Given the description of an element on the screen output the (x, y) to click on. 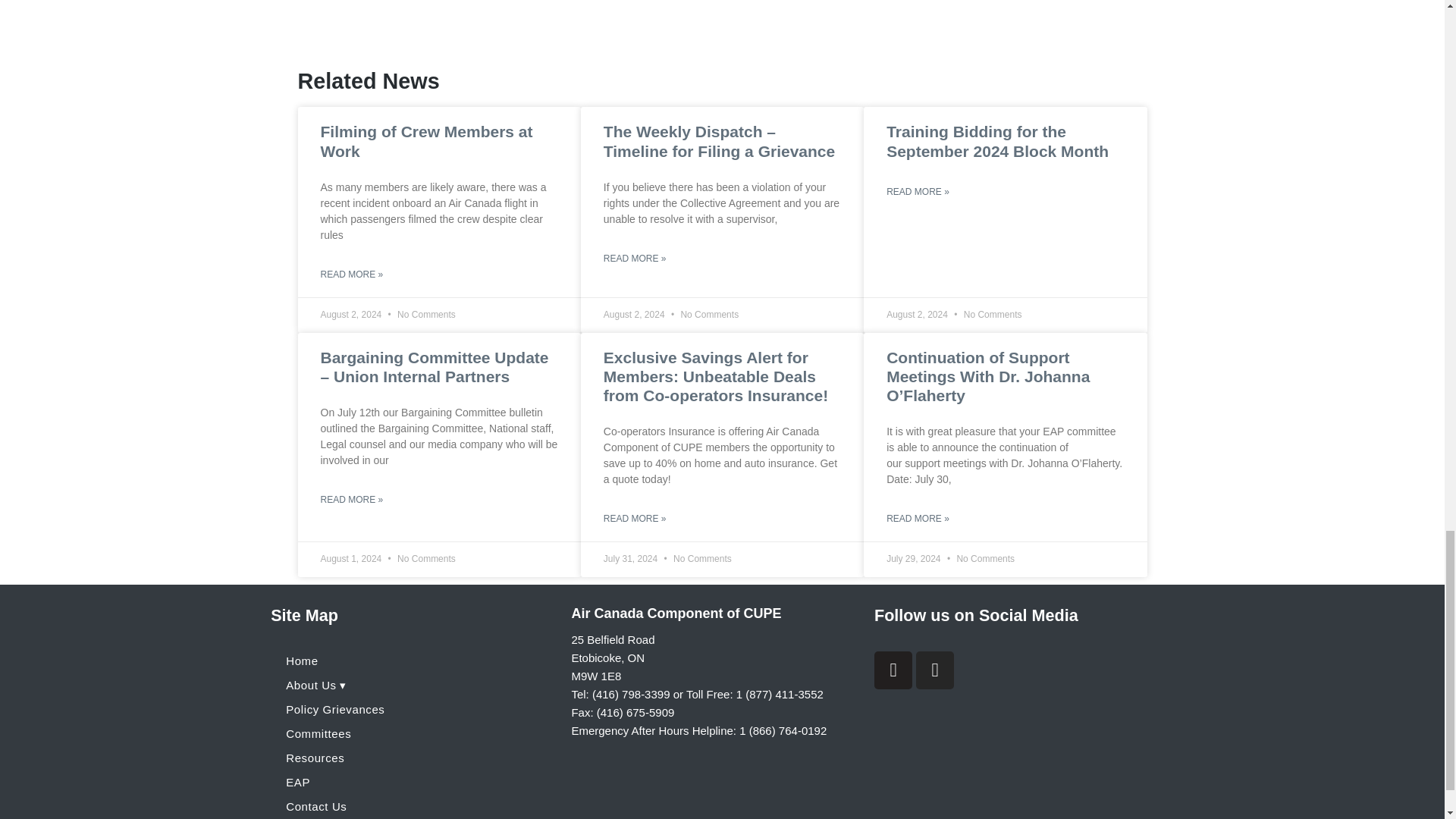
Contact Us (413, 806)
Training Bidding for the September 2024 Block Month (997, 140)
Filming of Crew Members at Work (426, 140)
EAP (413, 782)
Home (413, 661)
Policy Grievances (413, 709)
Resources (413, 758)
Committees (413, 733)
